Given the description of an element on the screen output the (x, y) to click on. 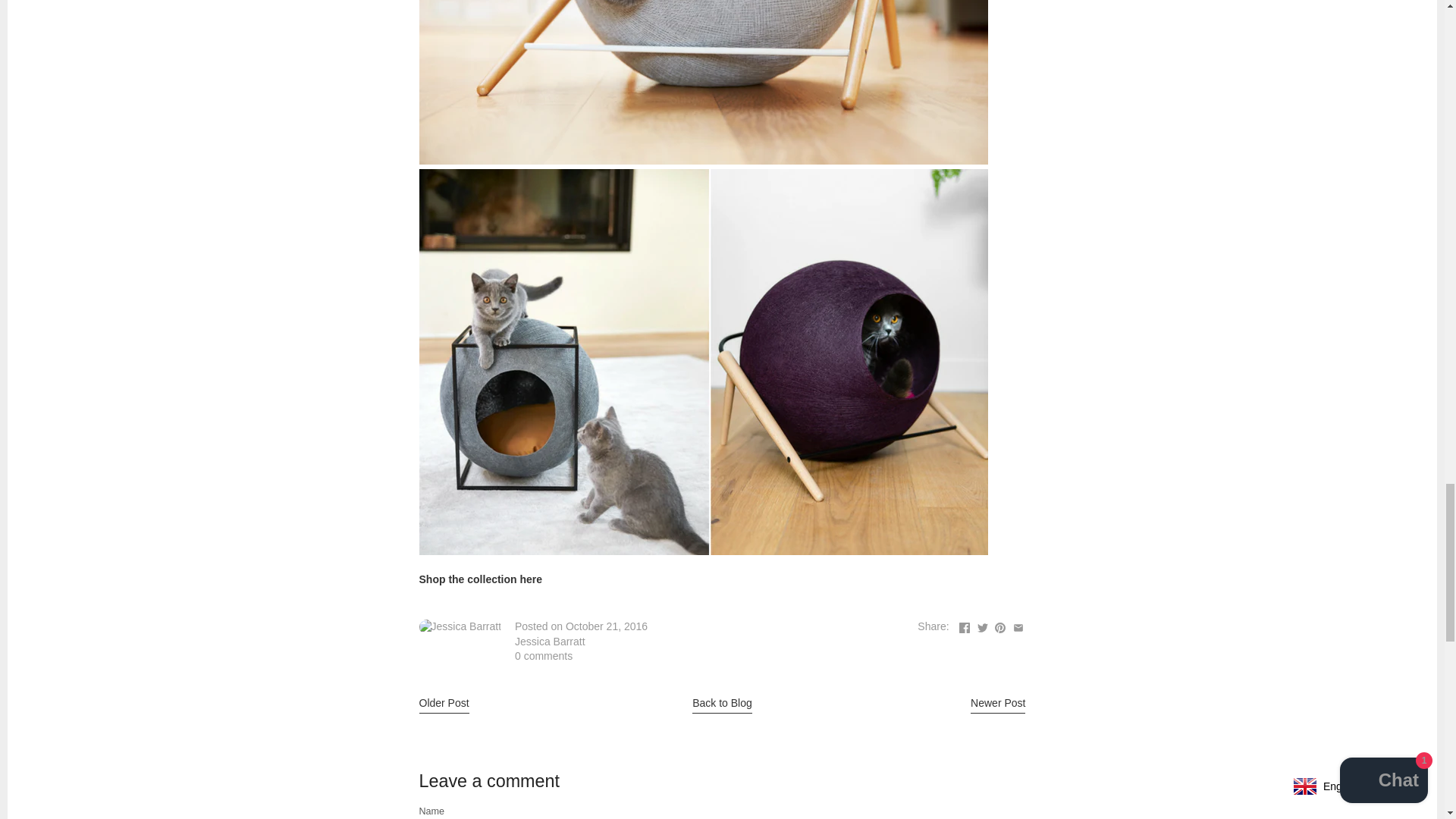
Pinterest (1000, 627)
Twitter (982, 627)
Email (1018, 627)
Facebook (964, 627)
